Given the description of an element on the screen output the (x, y) to click on. 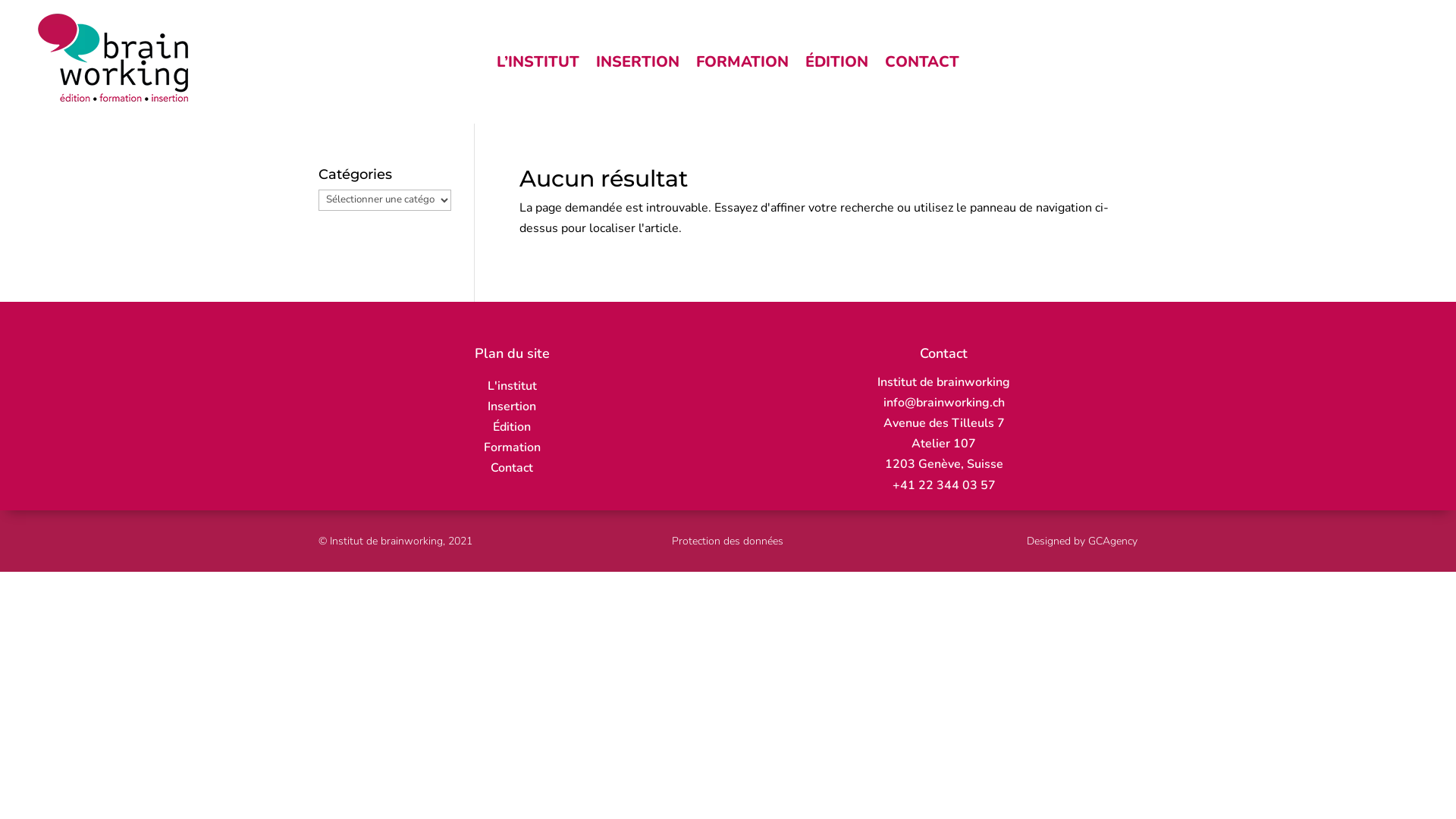
L'institut Element type: text (511, 385)
GCAgency Element type: text (1112, 540)
Formation Element type: text (511, 447)
Contact Element type: text (511, 467)
CONTACT Element type: text (921, 64)
Logo-Menu-desktop-IBW_b Element type: hover (113, 57)
Insertion Element type: text (511, 406)
